Given the description of an element on the screen output the (x, y) to click on. 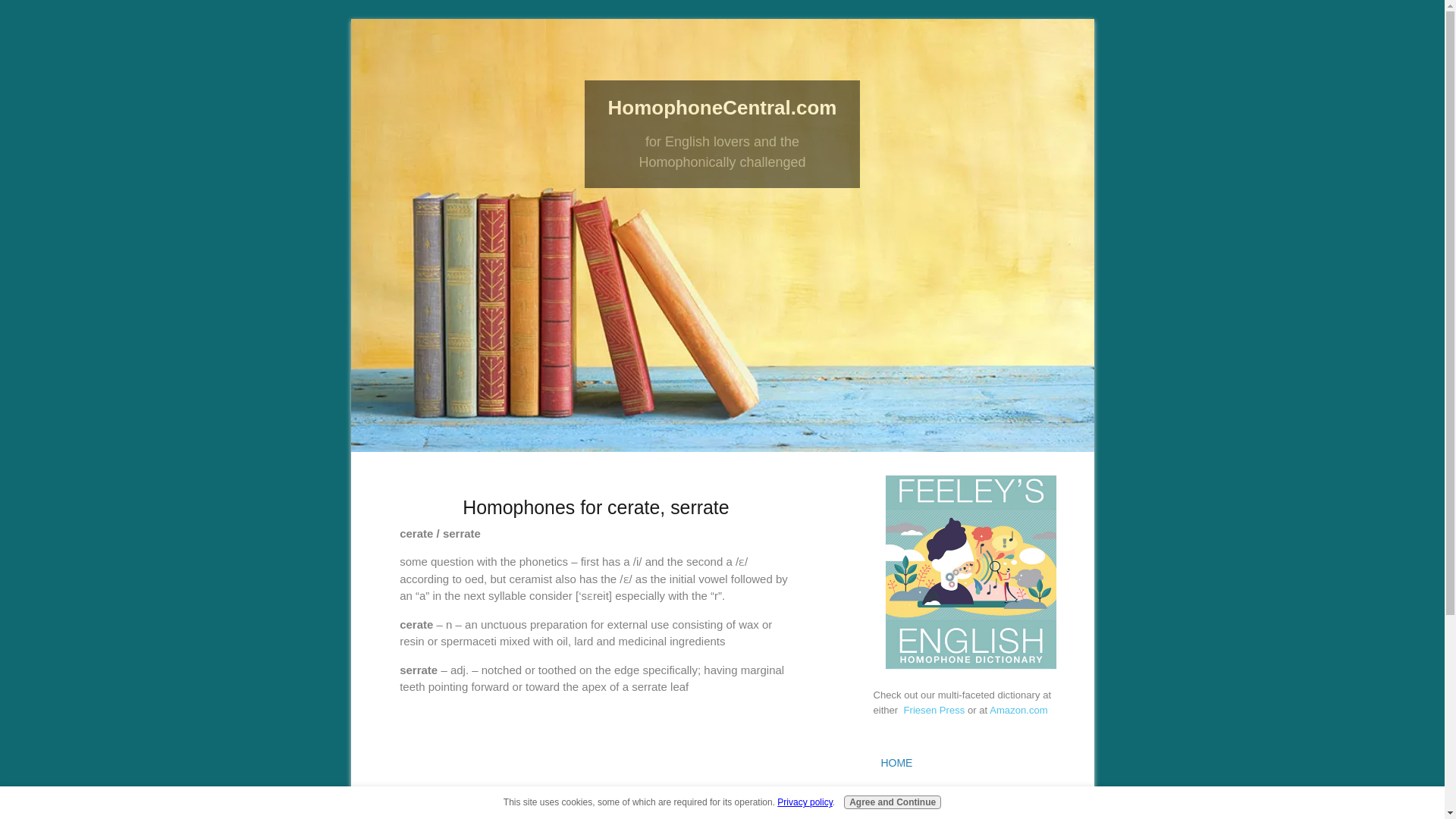
Amazon.com (1019, 709)
Friesen Press (936, 709)
Privacy policy (804, 801)
HOME (970, 762)
HC BLOG (970, 814)
ABOUT US (970, 793)
Agree and Continue (892, 802)
HomophoneCentral.com (722, 107)
